Given the description of an element on the screen output the (x, y) to click on. 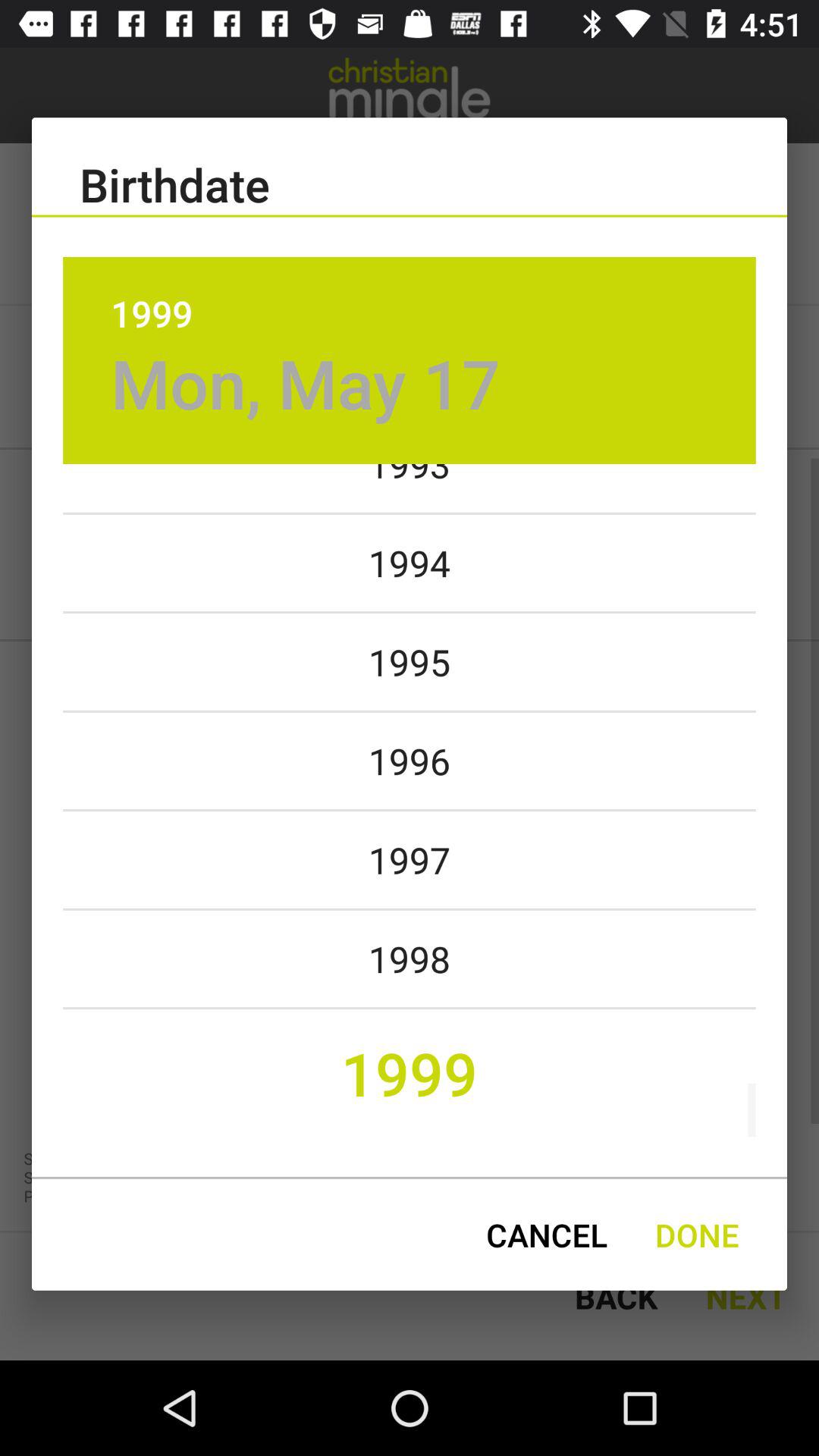
press the icon next to the done (546, 1234)
